Given the description of an element on the screen output the (x, y) to click on. 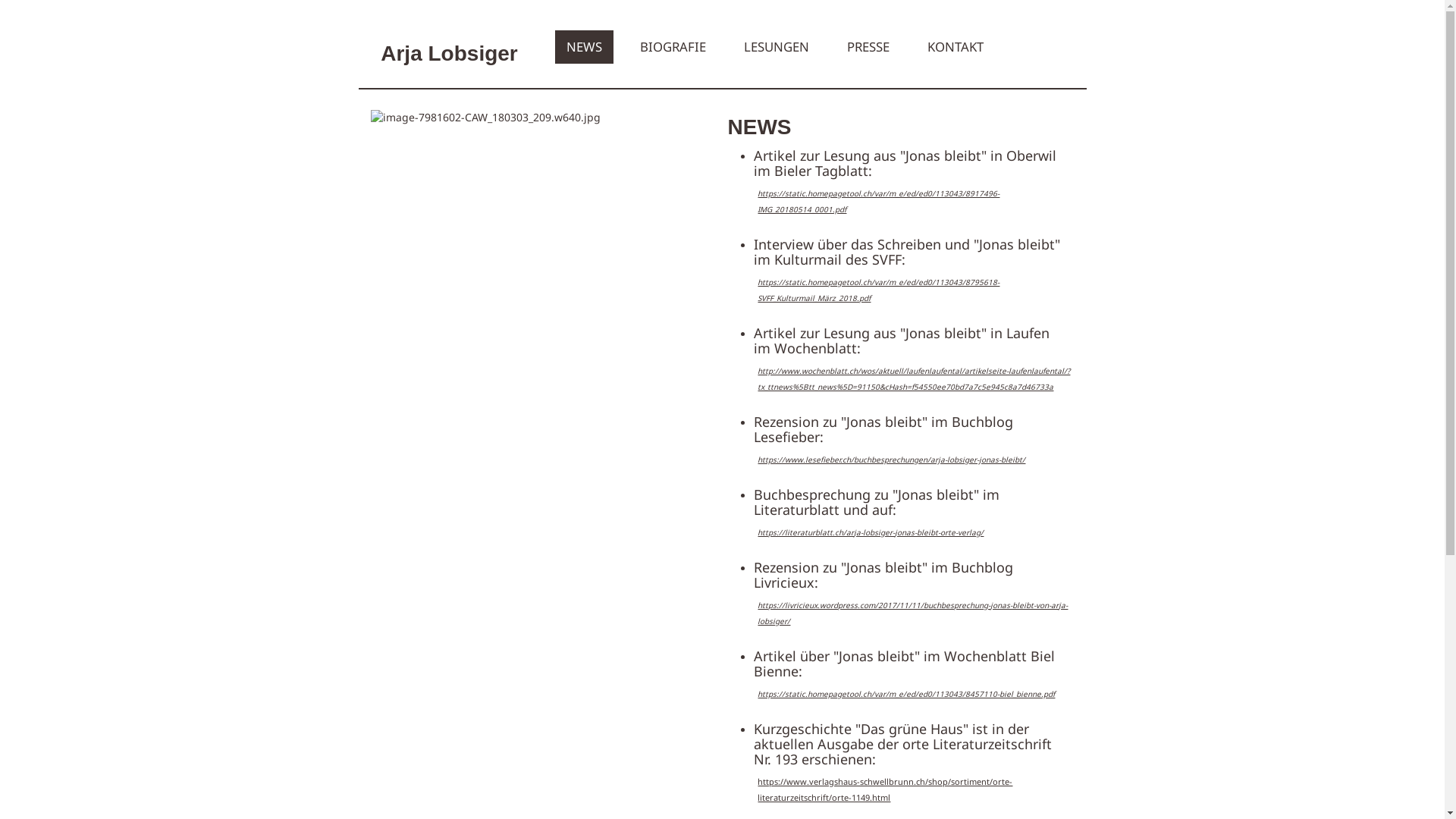
Arja Lobsiger Element type: text (449, 43)
NEWS Element type: text (584, 46)
BIOGRAFIE Element type: text (672, 46)
KONTAKT Element type: text (955, 46)
LESUNGEN Element type: text (776, 46)
PRESSE Element type: text (867, 46)
